Given the description of an element on the screen output the (x, y) to click on. 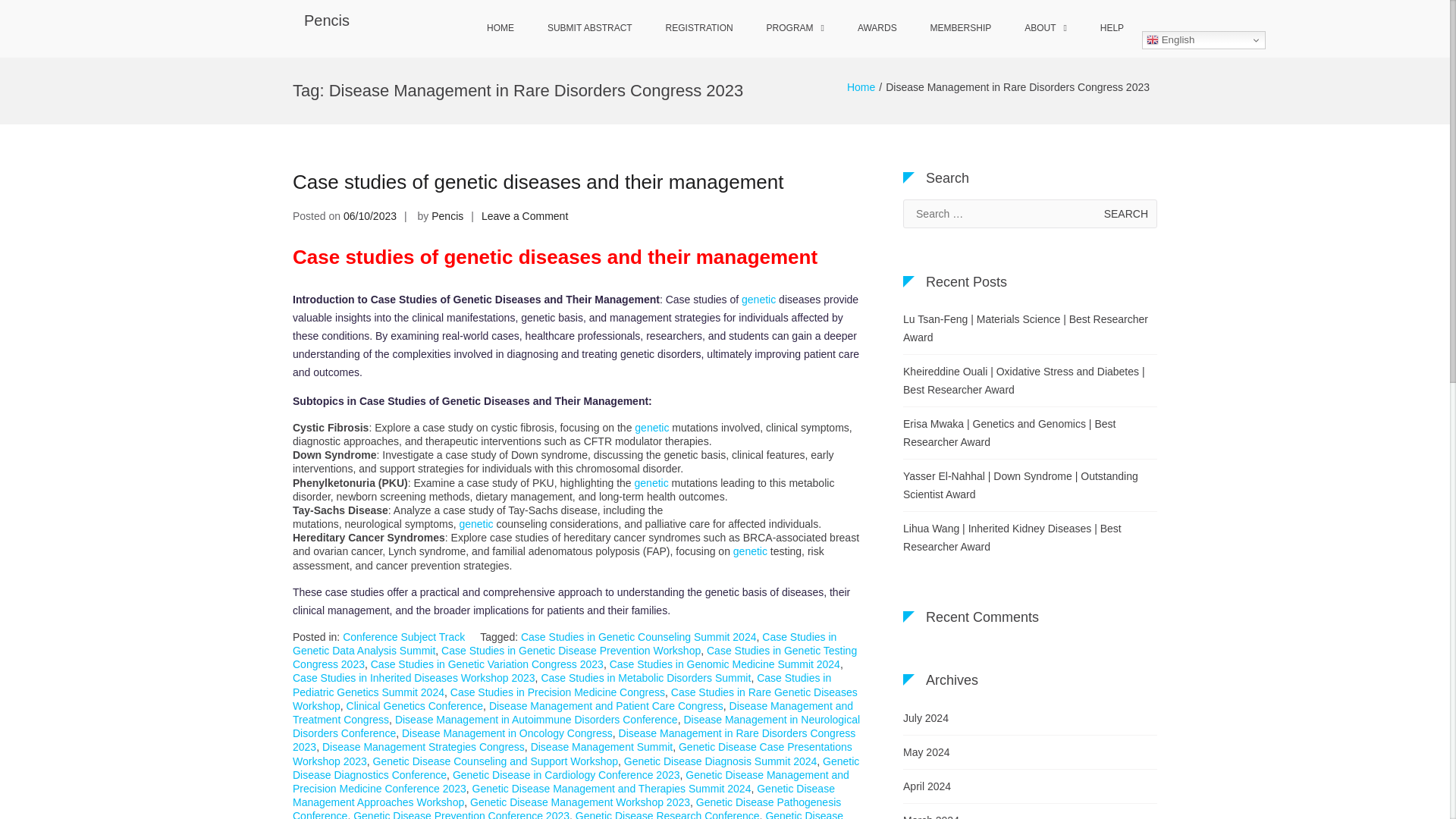
genetic (475, 523)
MEMBERSHIP (961, 28)
HOME (500, 28)
ABOUT (1045, 28)
Pencis (326, 20)
HELP (1111, 28)
Search (1125, 213)
REGISTRATION (699, 28)
AWARDS (877, 28)
Home (861, 87)
PROGRAM (795, 28)
Search (1125, 213)
Pencis (446, 215)
Case studies of genetic diseases and their management (538, 181)
